Given the description of an element on the screen output the (x, y) to click on. 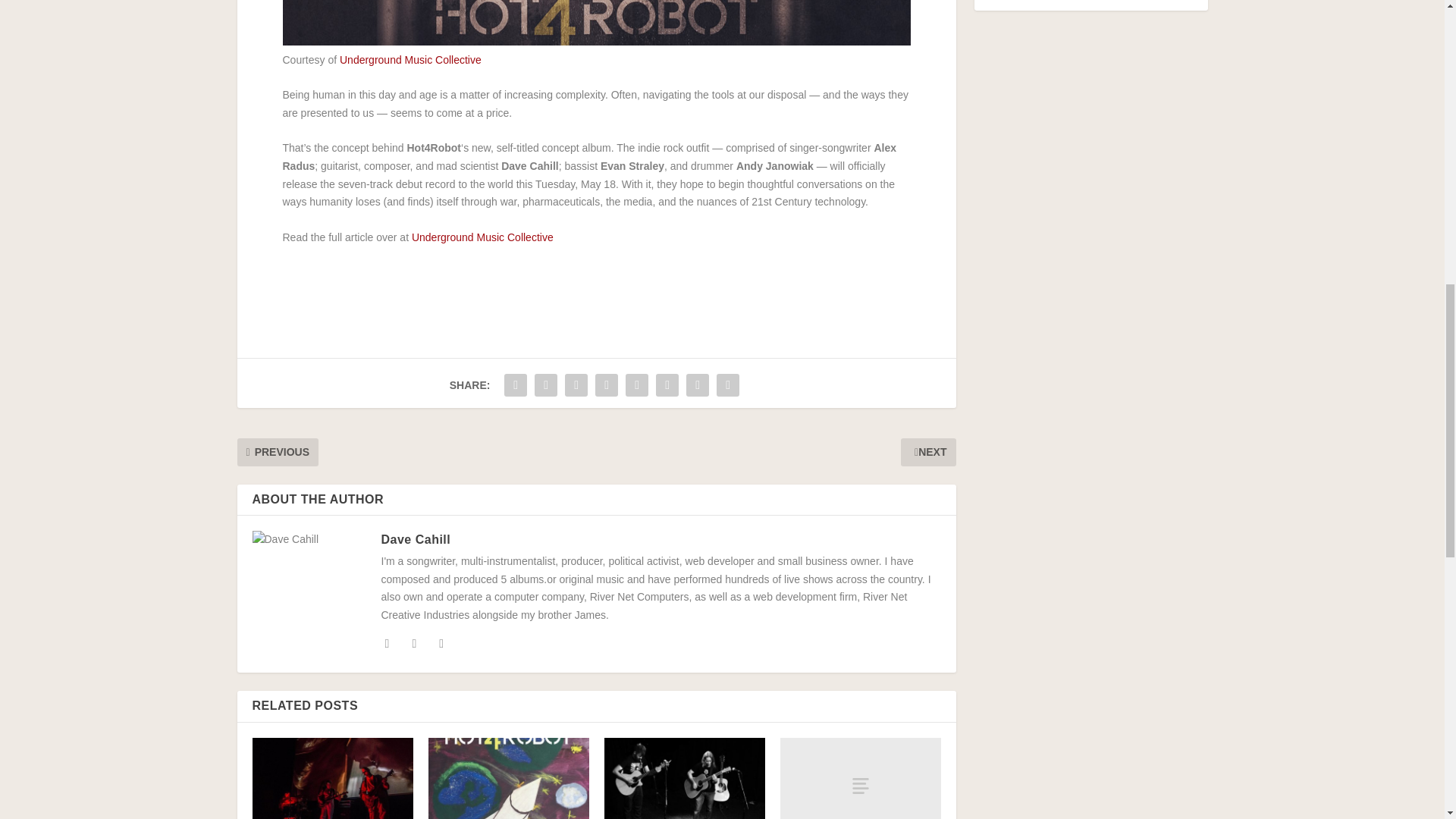
Underground Music Collective (410, 60)
Dave Cahill (414, 539)
View all posts by Dave Cahill (414, 539)
PREVIOUS (276, 451)
Underground Music Collective (482, 236)
